Given the description of an element on the screen output the (x, y) to click on. 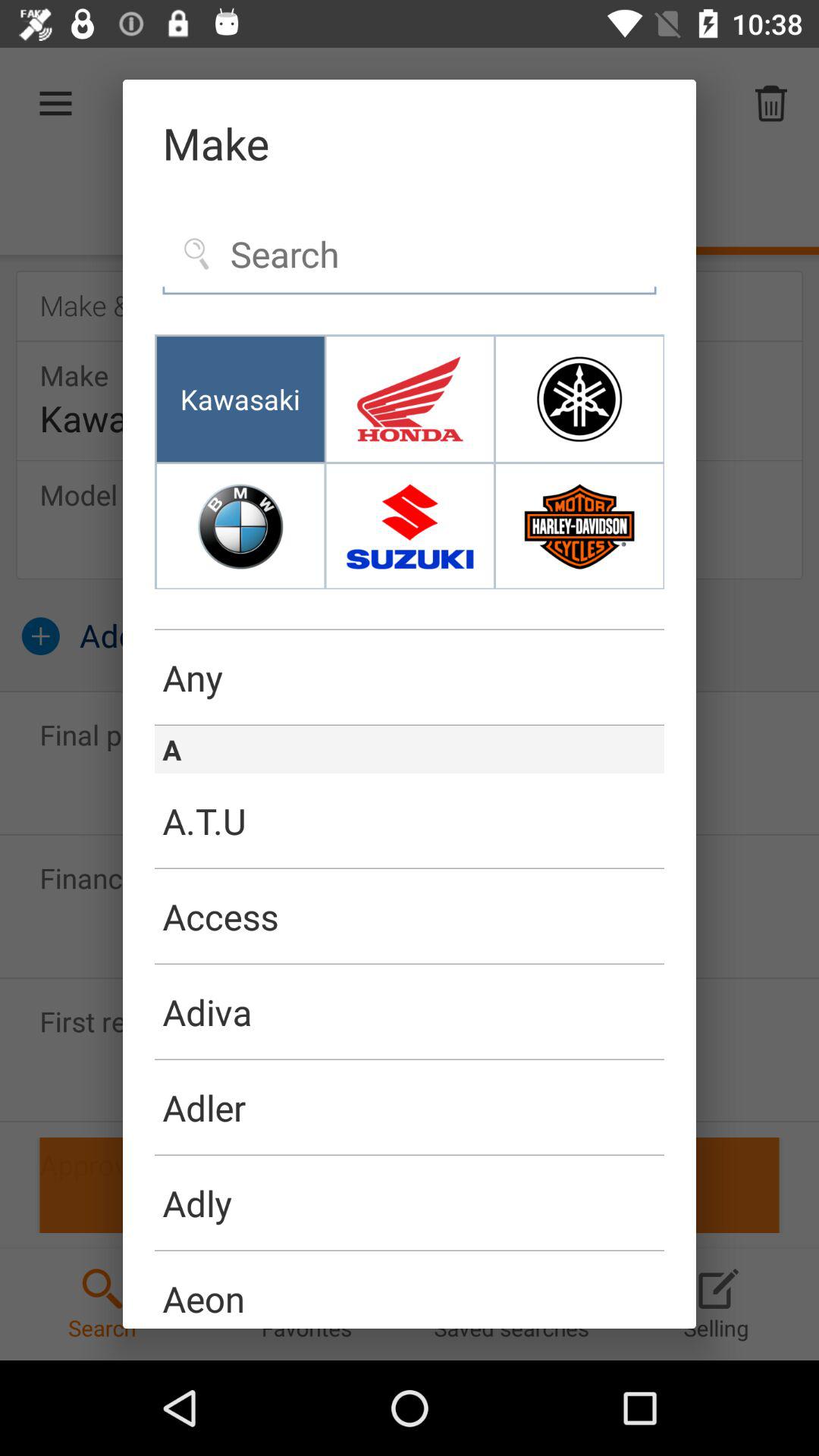
flip to the a.t.u item (409, 821)
